Given the description of an element on the screen output the (x, y) to click on. 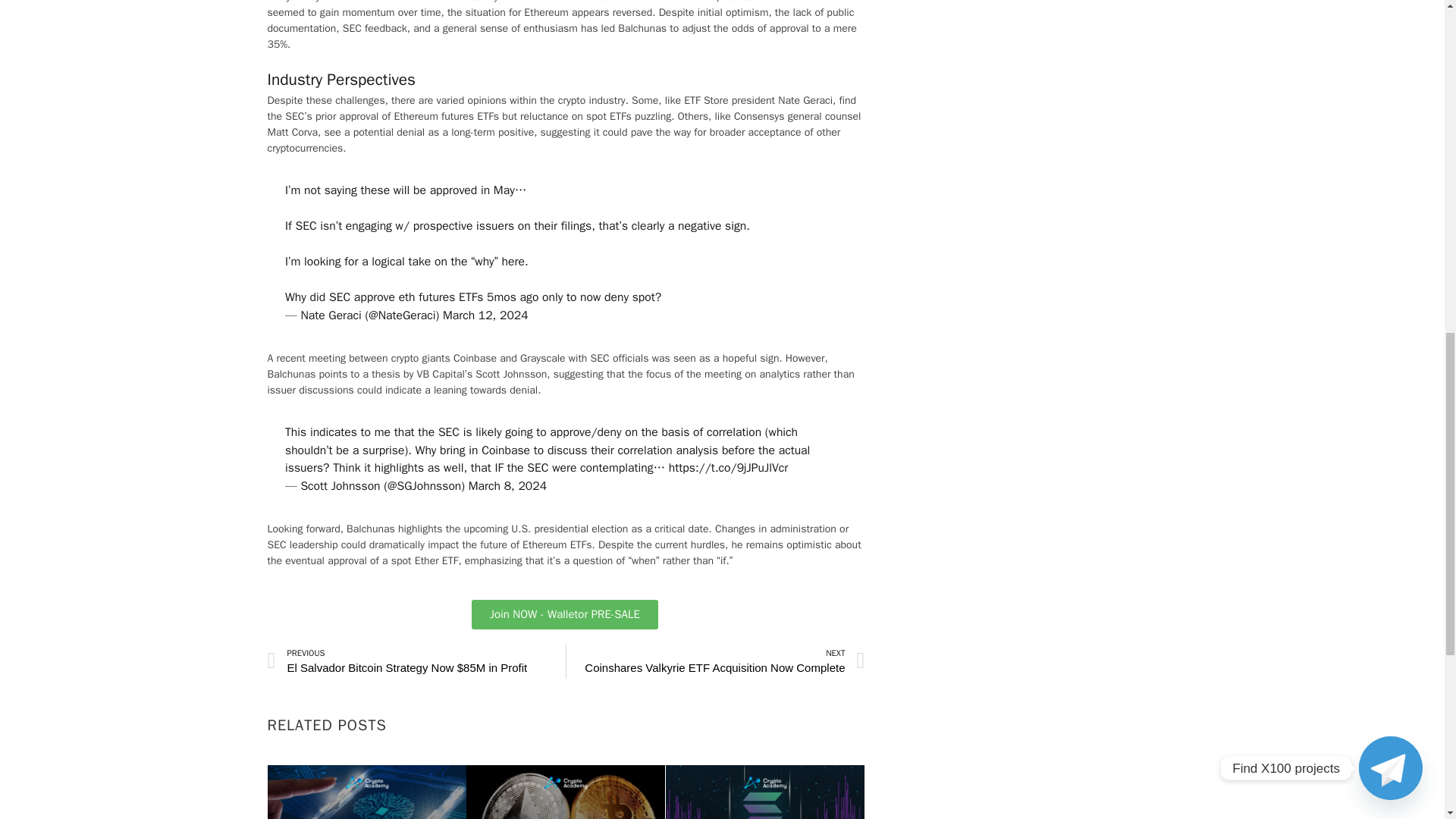
March 12, 2024 (485, 314)
March 8, 2024 (507, 485)
